Given the description of an element on the screen output the (x, y) to click on. 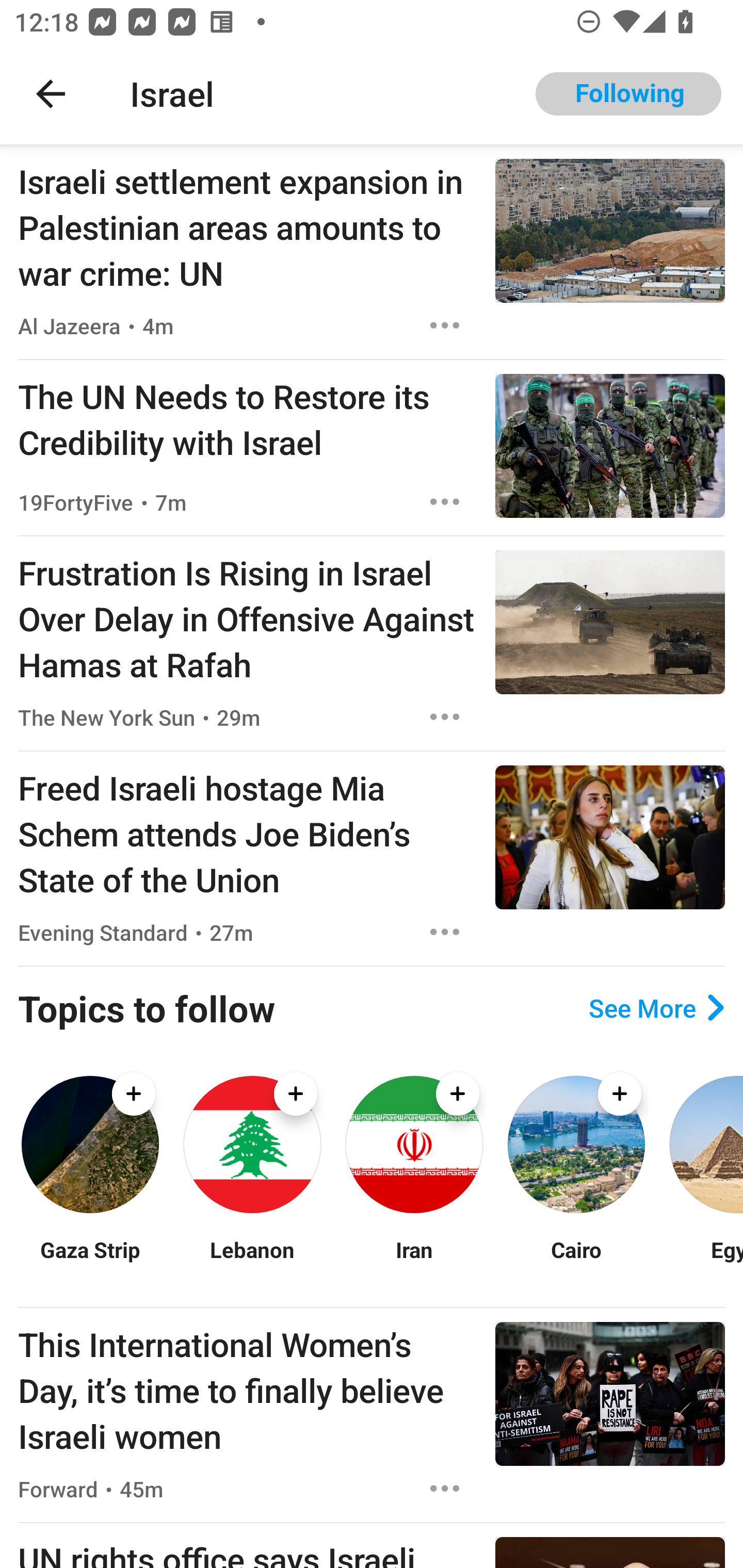
Navigate up (50, 93)
Following (628, 94)
Options (444, 325)
Options (444, 501)
Options (444, 716)
Options (444, 932)
See More (656, 1007)
Gaza Strip (89, 1261)
Lebanon (251, 1261)
Iran (413, 1261)
Cairo (575, 1261)
Options (444, 1488)
